Given the description of an element on the screen output the (x, y) to click on. 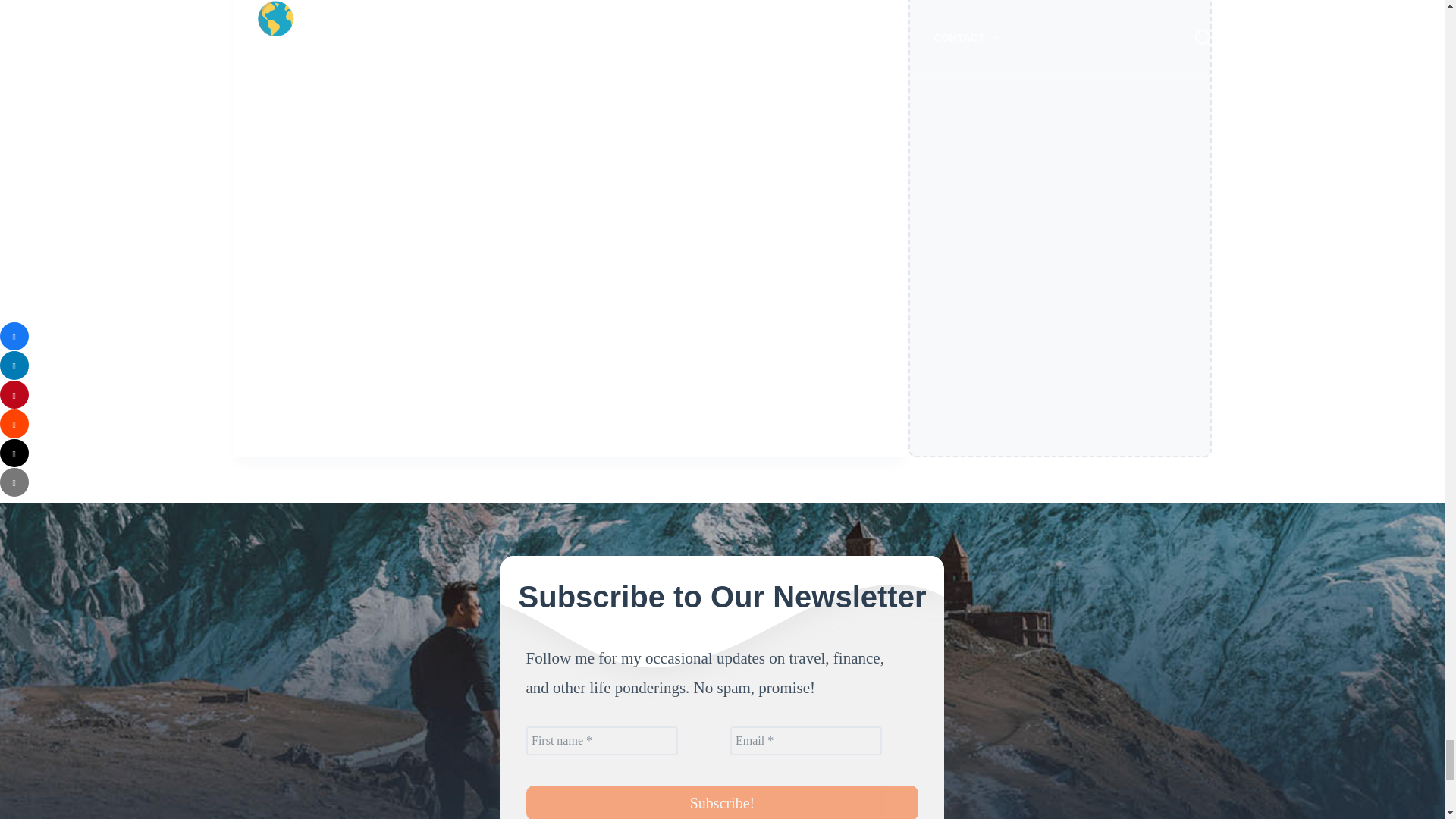
Subscribe! (721, 802)
